Given the description of an element on the screen output the (x, y) to click on. 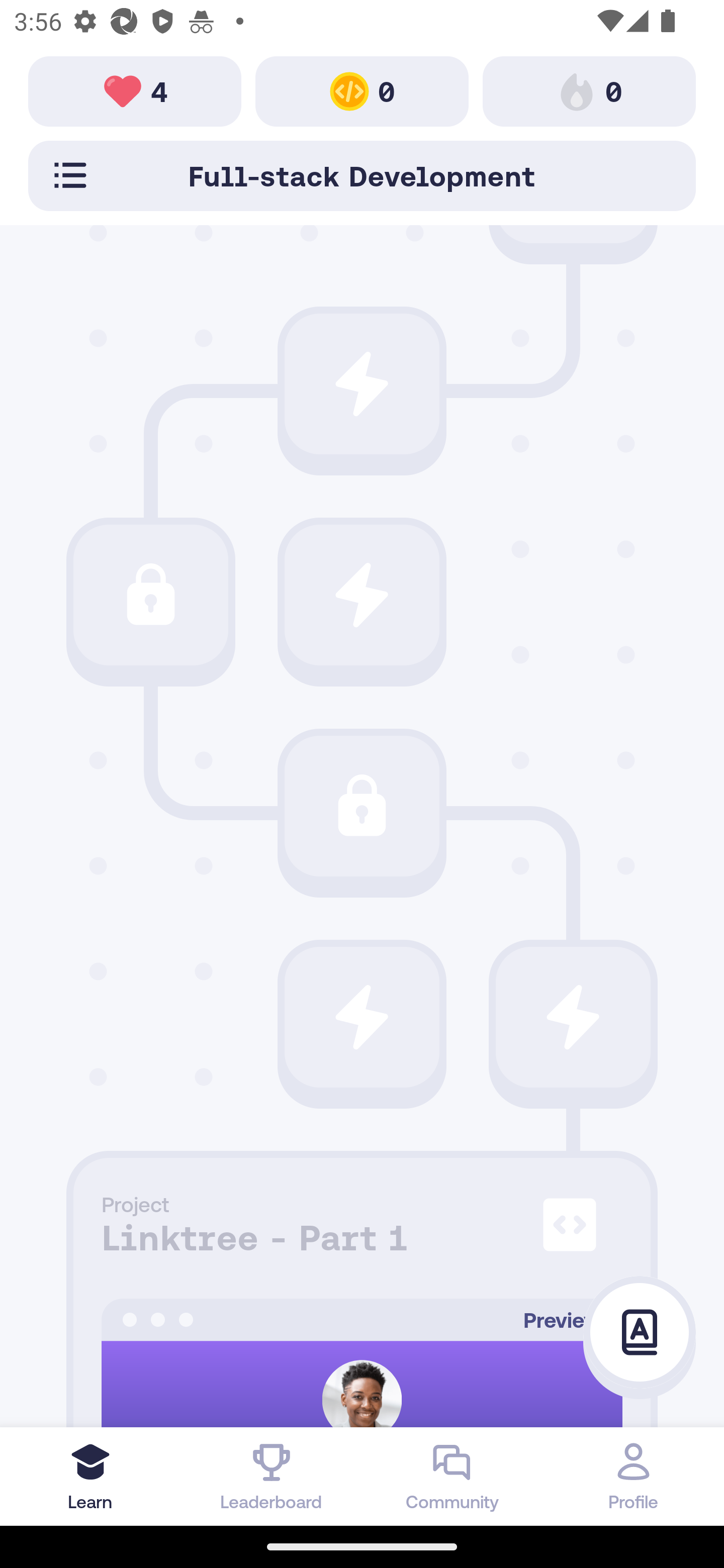
Path Toolbar Image 4 (134, 90)
Path Toolbar Image 0 (361, 90)
Path Toolbar Image 0 (588, 90)
Path Toolbar Selector Full-stack Development (361, 175)
Path Icon (361, 383)
Path Icon (150, 594)
Path Icon (361, 594)
Path Icon (361, 805)
Path Icon (361, 1017)
Path Icon (572, 1017)
Glossary Icon (639, 1332)
Leaderboard (271, 1475)
Community (452, 1475)
Profile (633, 1475)
